Given the description of an element on the screen output the (x, y) to click on. 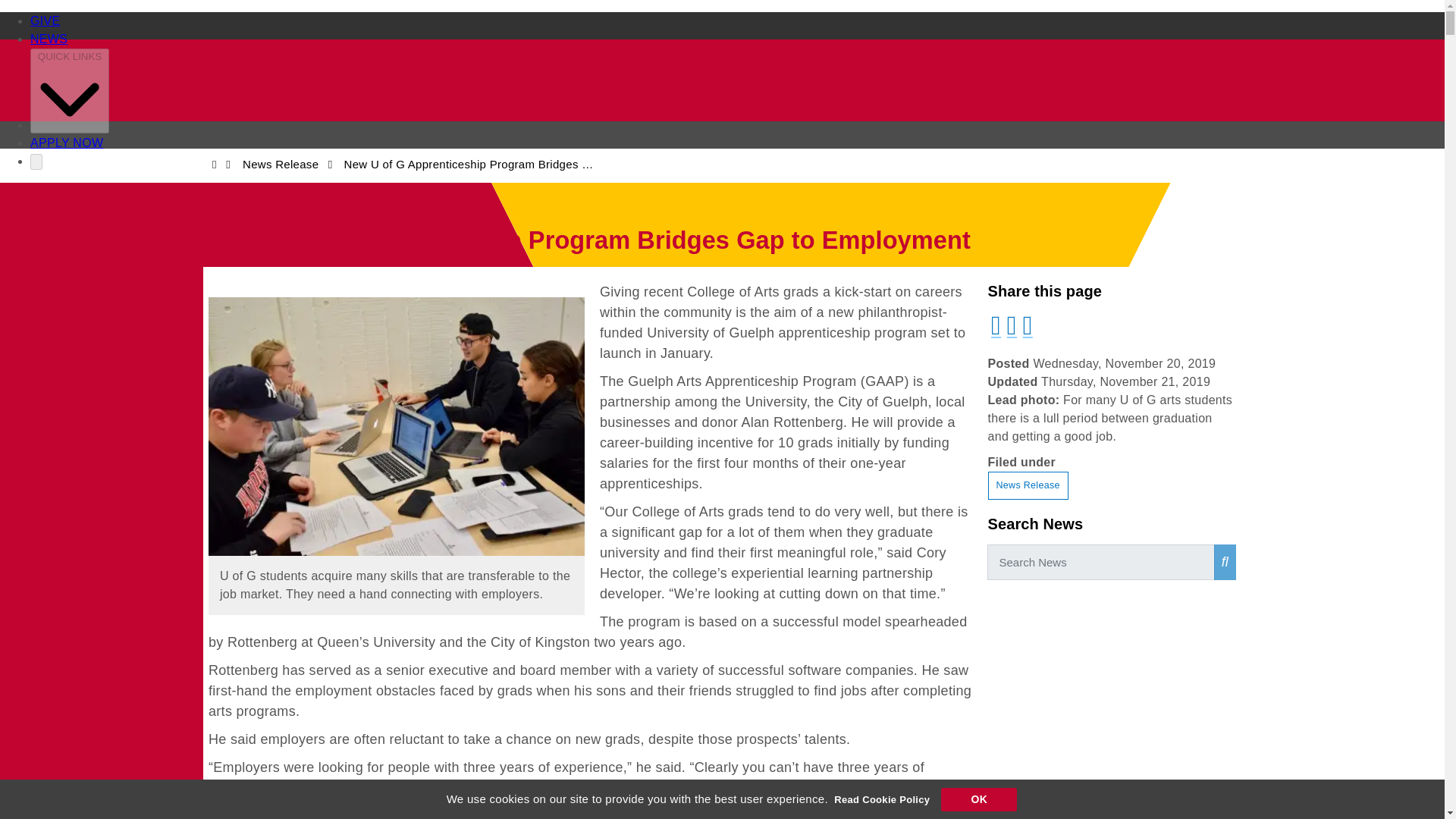
News Release (1027, 485)
News Release (280, 164)
